Given the description of an element on the screen output the (x, y) to click on. 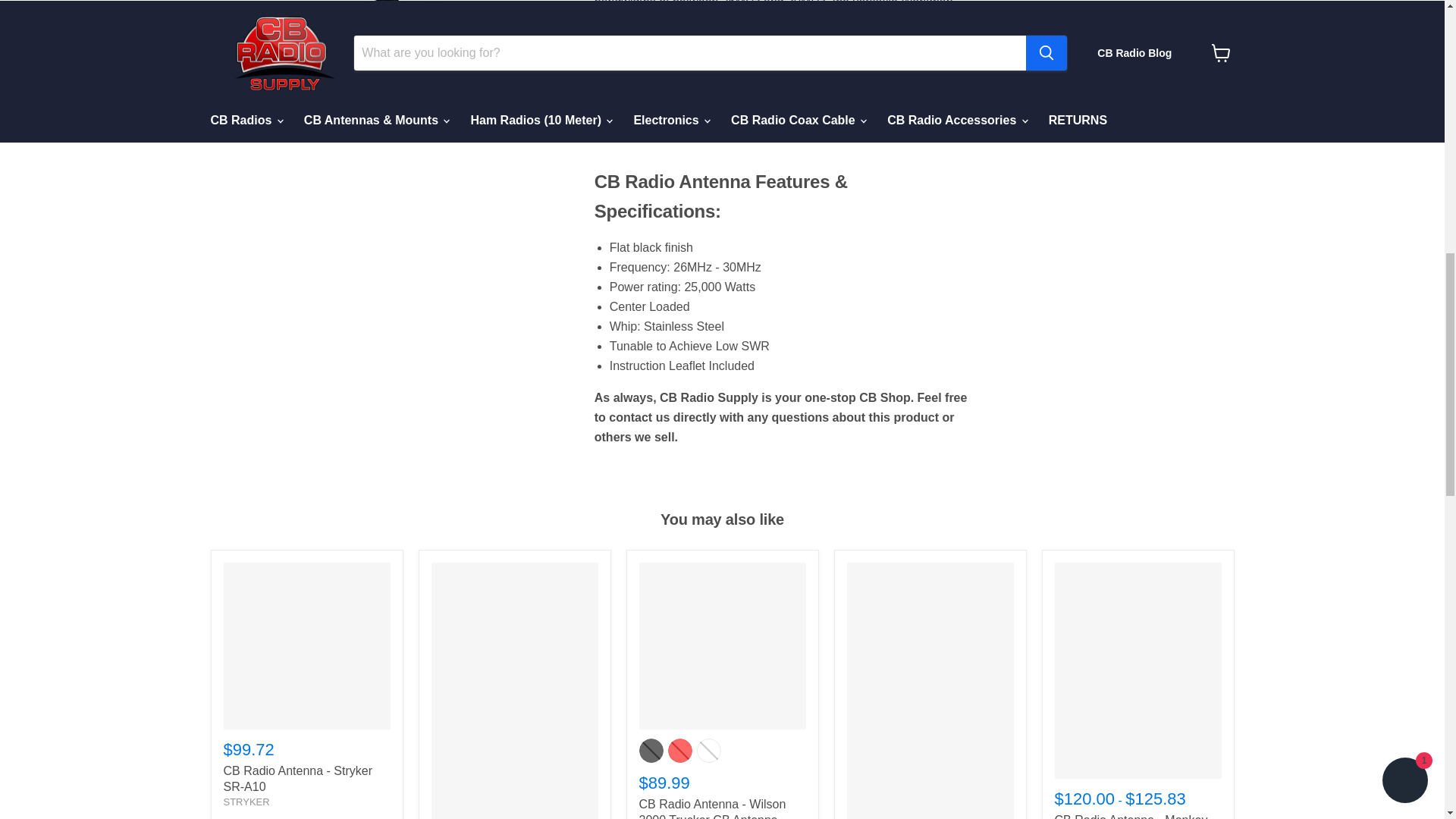
STRYKER (245, 801)
